Given the description of an element on the screen output the (x, y) to click on. 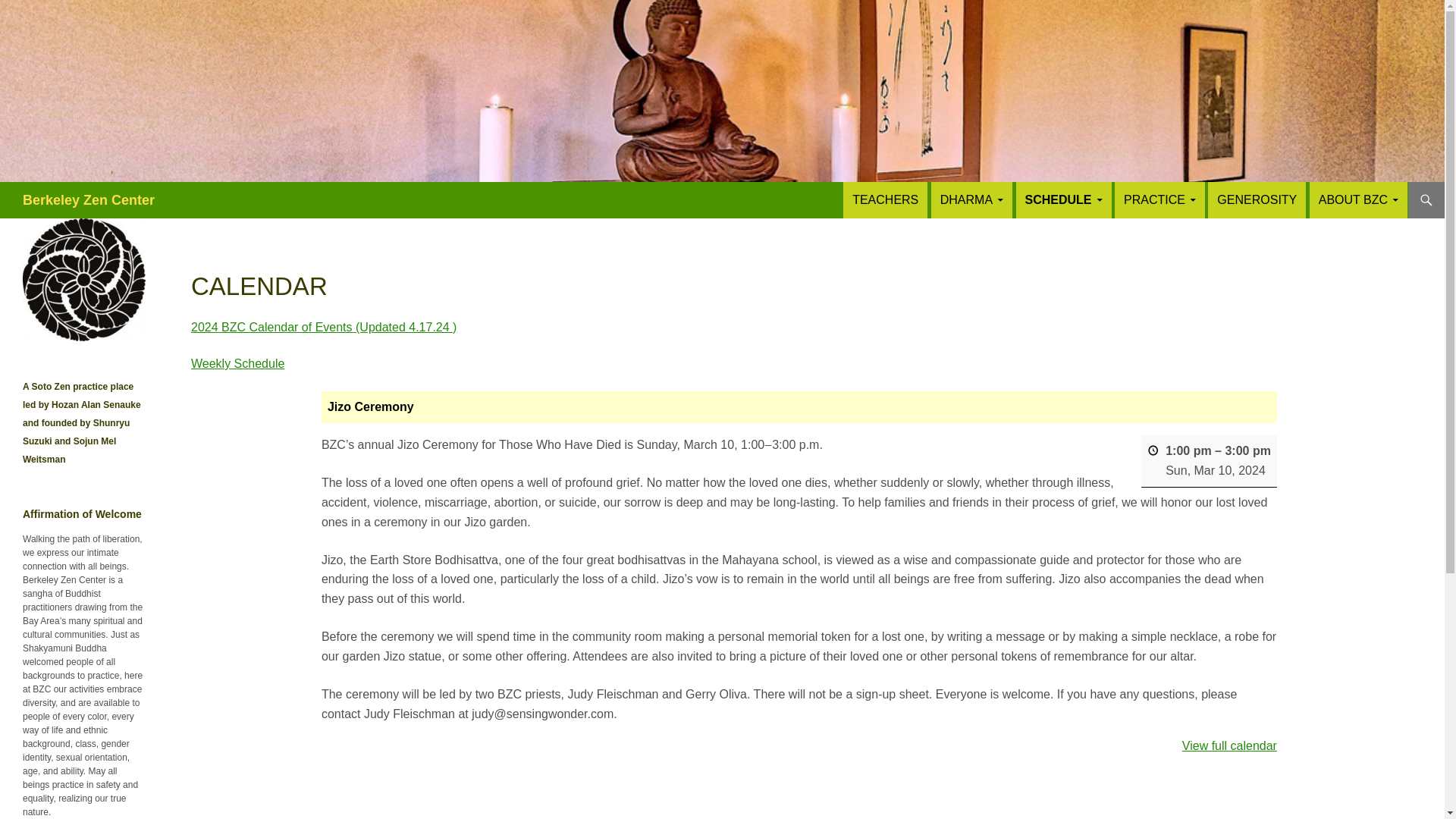
2024-03-10T15:00:00-07:00 (1246, 450)
Weekly Schedule (236, 363)
TEACHERS (885, 199)
PRACTICE (1160, 199)
2024-03-10T13:00:00-07:00 (1215, 470)
View full calendar (1229, 745)
2024-03-10T13:00:00-07:00 (1188, 450)
SCHEDULE (1064, 199)
GENEROSITY (1257, 199)
ABOUT BZC (1357, 199)
DHARMA (971, 199)
Berkeley Zen Center (88, 199)
